Given the description of an element on the screen output the (x, y) to click on. 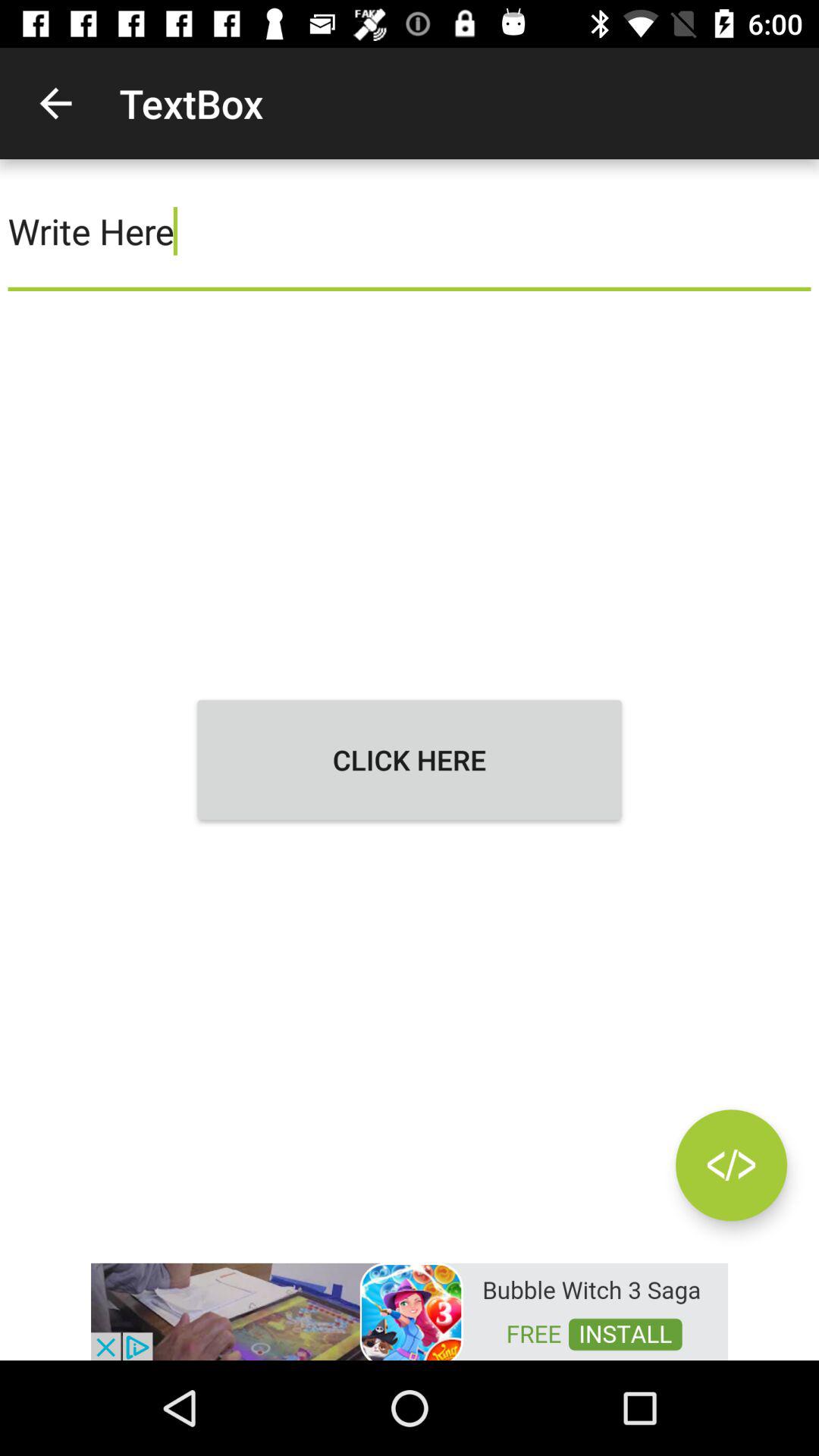
goto next and previous page (731, 1165)
